Given the description of an element on the screen output the (x, y) to click on. 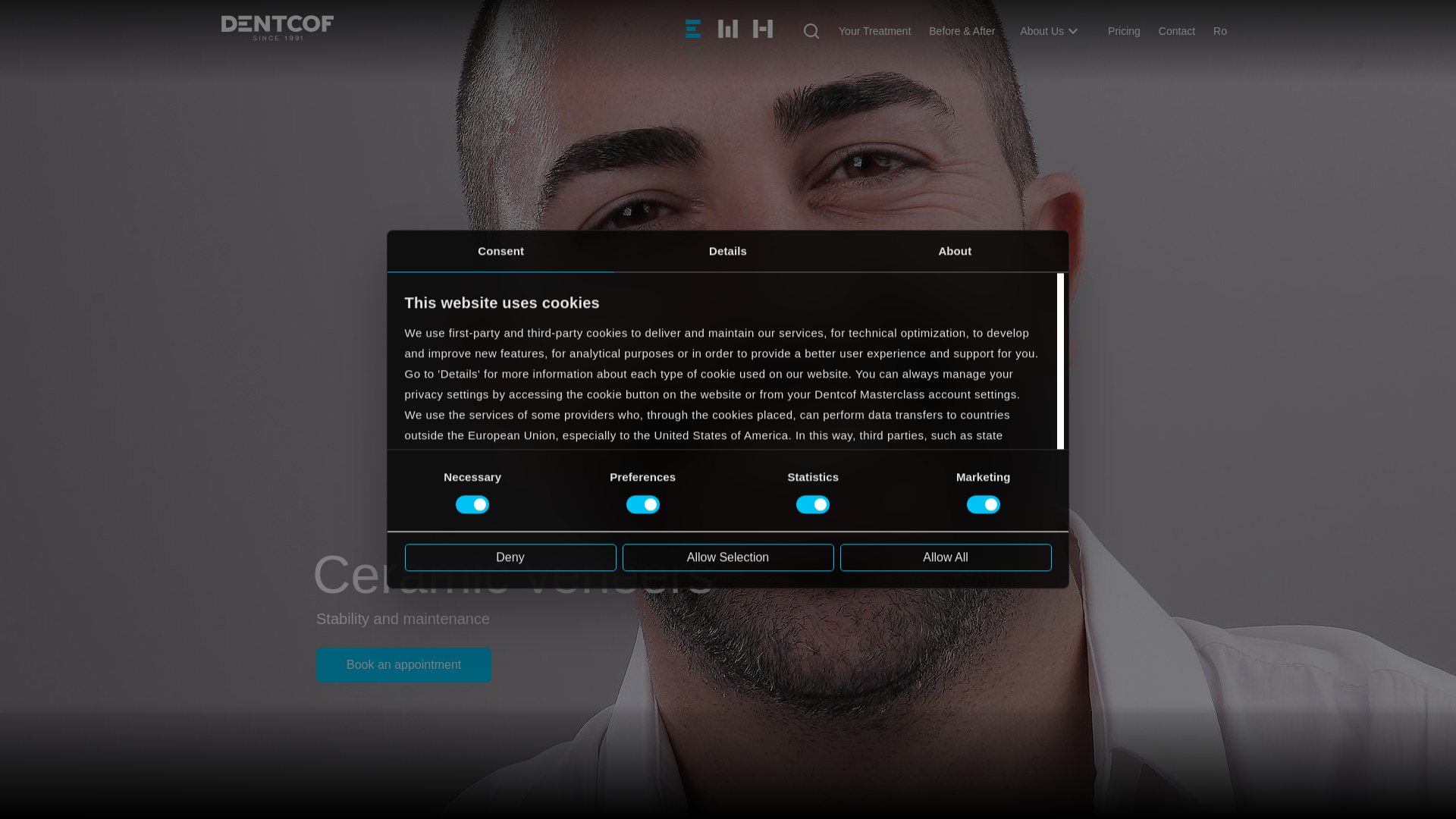
Consent (500, 250)
Details (727, 250)
Cookie Policy (441, 536)
Allow Selection (726, 556)
Deny (509, 556)
About (954, 250)
Allow All (945, 556)
